Given the description of an element on the screen output the (x, y) to click on. 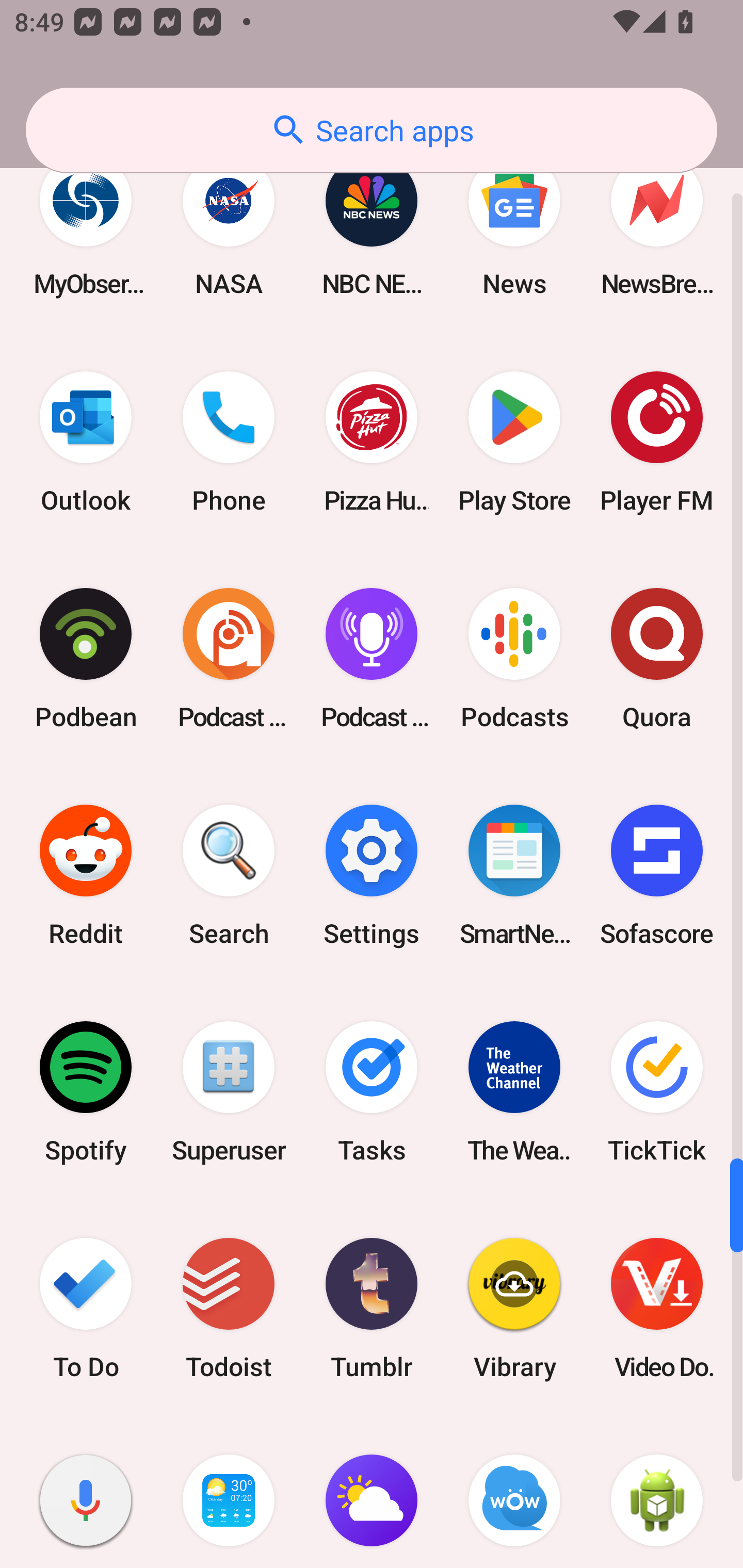
  Search apps (371, 130)
MyObservatory (85, 225)
NASA (228, 225)
NBC NEWS (371, 225)
News (514, 225)
NewsBreak (656, 225)
Outlook (85, 441)
Phone (228, 441)
Pizza Hut HK & Macau (371, 441)
Play Store (514, 441)
Player FM (656, 441)
Podbean (85, 658)
Podcast Addict (228, 658)
Podcast Player (371, 658)
Podcasts (514, 658)
Quora (656, 658)
Reddit (85, 874)
Search (228, 874)
Settings (371, 874)
SmartNews (514, 874)
Sofascore (656, 874)
Spotify (85, 1091)
Superuser (228, 1091)
Tasks (371, 1091)
The Weather Channel (514, 1091)
TickTick (656, 1091)
To Do (85, 1308)
Todoist (228, 1308)
Tumblr (371, 1308)
Vibrary (514, 1308)
Video Downloader & Ace Player (656, 1308)
Voice Search (85, 1492)
Weather (228, 1492)
Weather (371, 1492)
Weawow (514, 1492)
WebView Browser Tester (656, 1492)
